Given the description of an element on the screen output the (x, y) to click on. 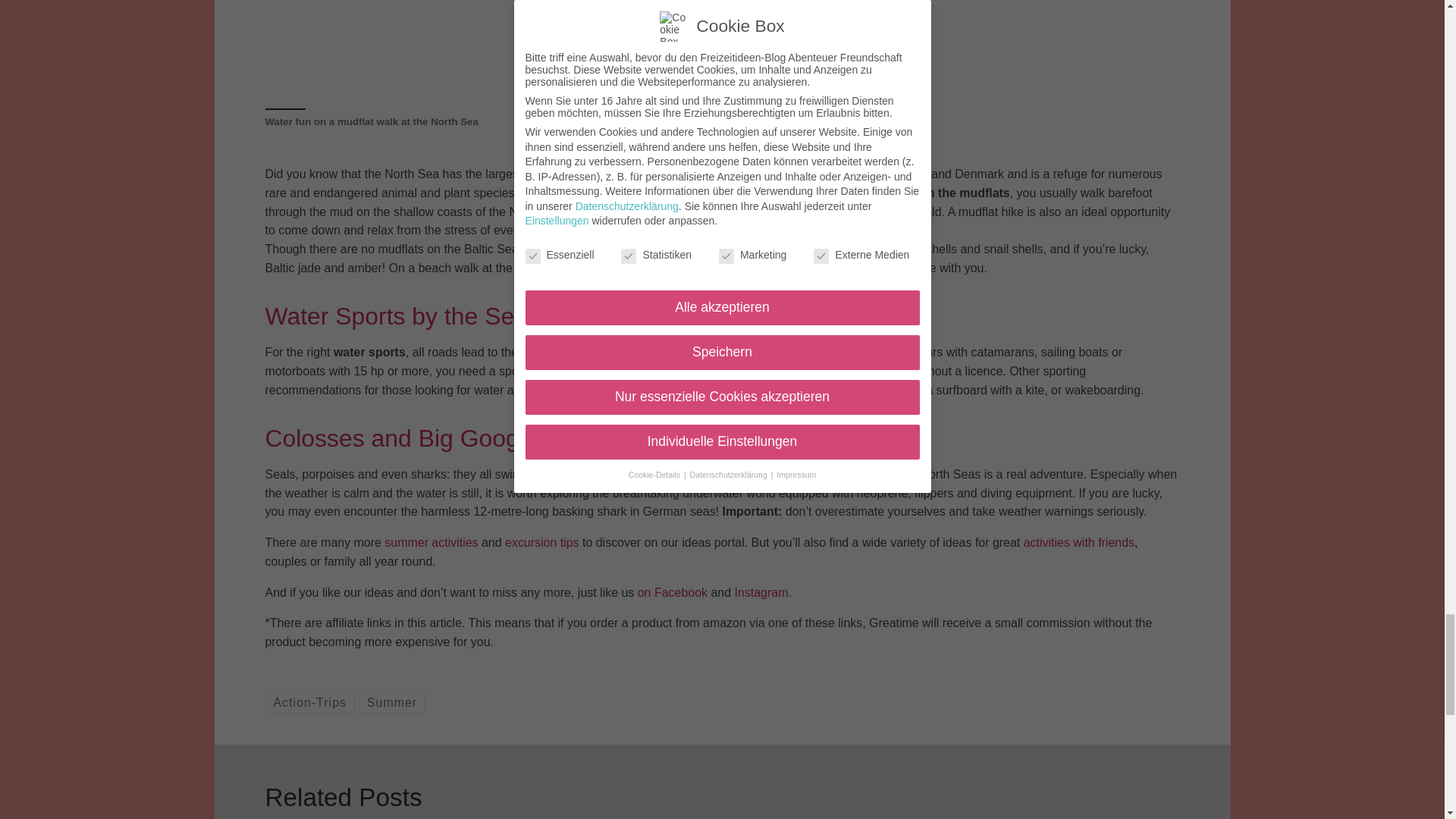
Water Activities In Summer What You Can T Miss (721, 47)
View all posts in Action-Trips (309, 702)
View all posts in Summer (391, 702)
